Given the description of an element on the screen output the (x, y) to click on. 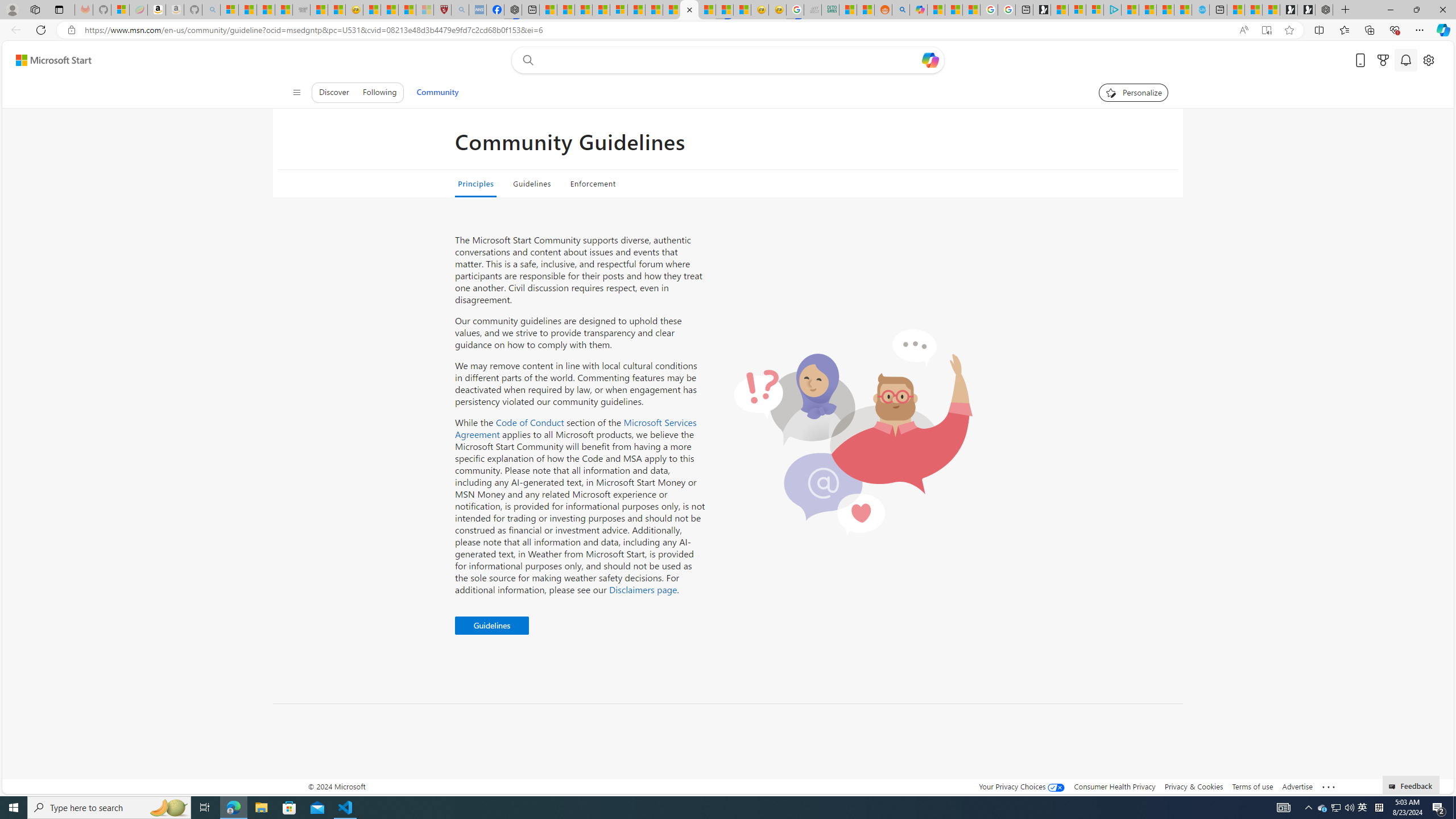
NCL Adult Asthma Inhaler Choice Guideline - Sleeping (478, 9)
Back (13, 29)
Favorites (1344, 29)
Workspaces (34, 9)
Consumer Health Privacy (1115, 785)
Nordace - Nordace Siena Is Not An Ordinary Backpack (1324, 9)
MSNBC - MSN (847, 9)
Close (1442, 9)
App bar (728, 29)
Code of Conduct (529, 422)
Play Free Online Games | Games from Microsoft Start (1306, 9)
